Given the description of an element on the screen output the (x, y) to click on. 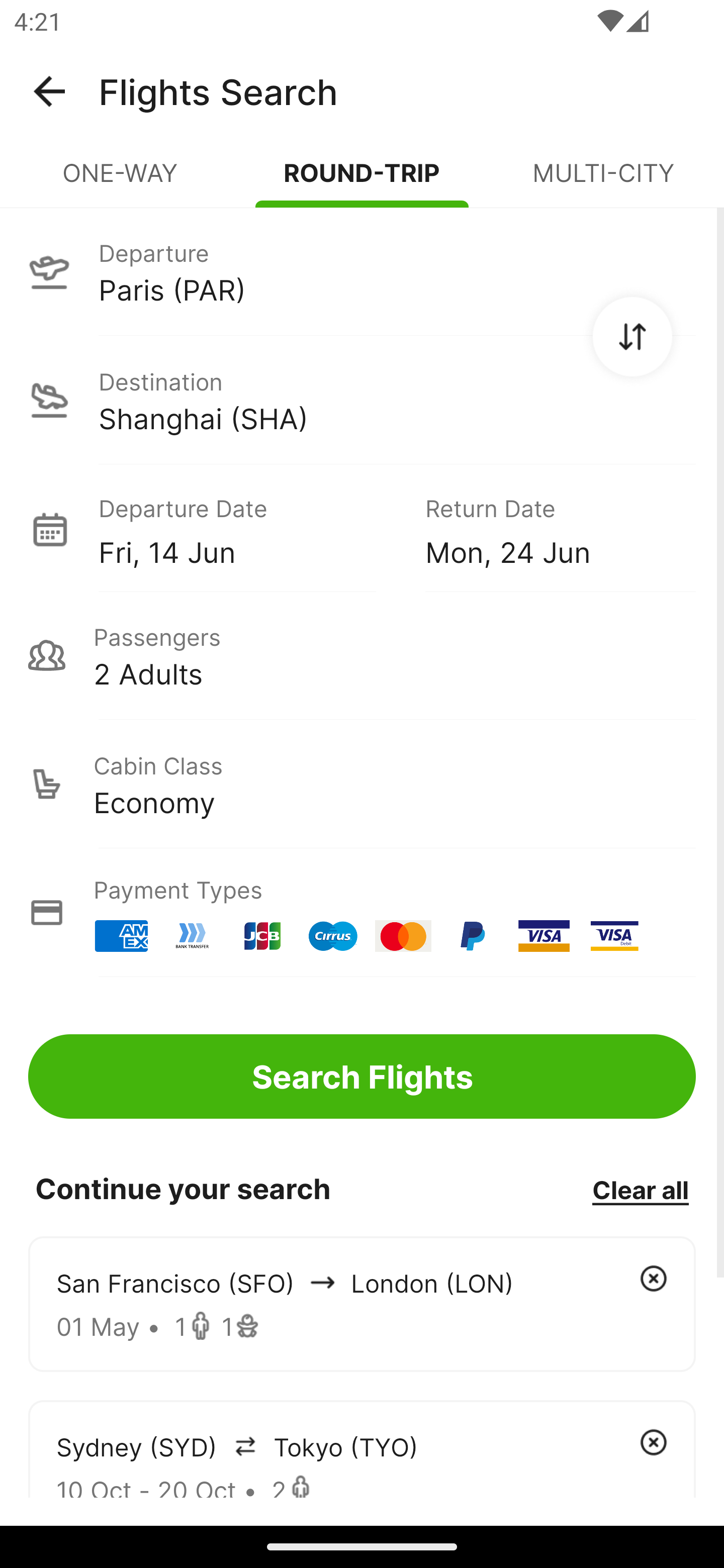
ONE-WAY (120, 180)
ROUND-TRIP (361, 180)
MULTI-CITY (603, 180)
Departure Paris (PAR) (362, 270)
Destination Shanghai (SHA) (362, 400)
Departure Date Fri, 14 Jun (247, 528)
Return Date Mon, 24 Jun (546, 528)
Passengers 2 Adults (362, 655)
Cabin Class Economy (362, 783)
Payment Types (362, 912)
Search Flights (361, 1075)
Clear all (640, 1189)
